Given the description of an element on the screen output the (x, y) to click on. 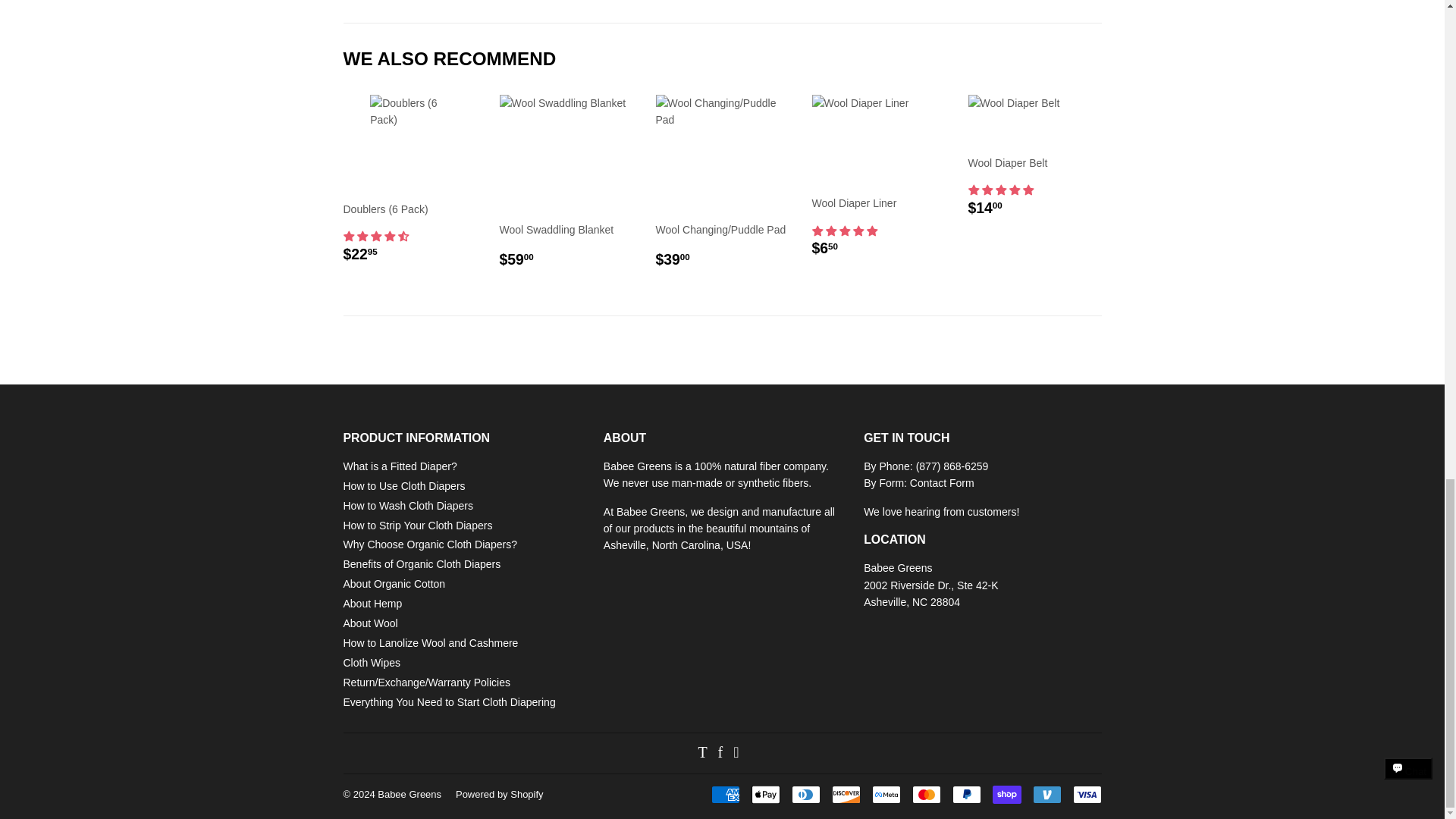
Diners Club (806, 794)
American Express (725, 794)
Contact Us (942, 482)
Meta Pay (886, 794)
Discover (845, 794)
Apple Pay (764, 794)
Visa (1085, 794)
Mastercard (925, 794)
Shop Pay (1005, 794)
Venmo (1046, 794)
